Given the description of an element on the screen output the (x, y) to click on. 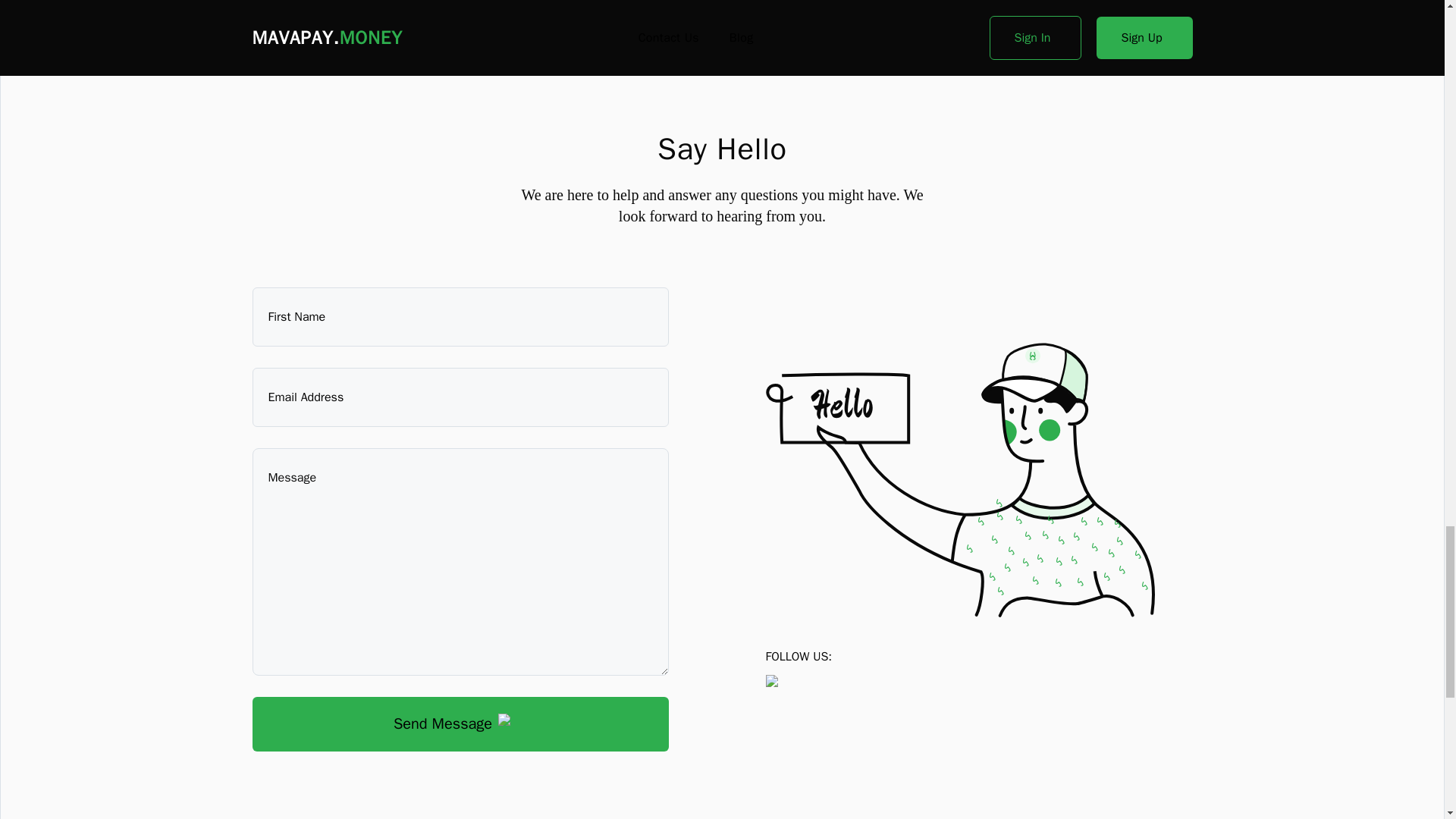
Send Message (459, 723)
